Given the description of an element on the screen output the (x, y) to click on. 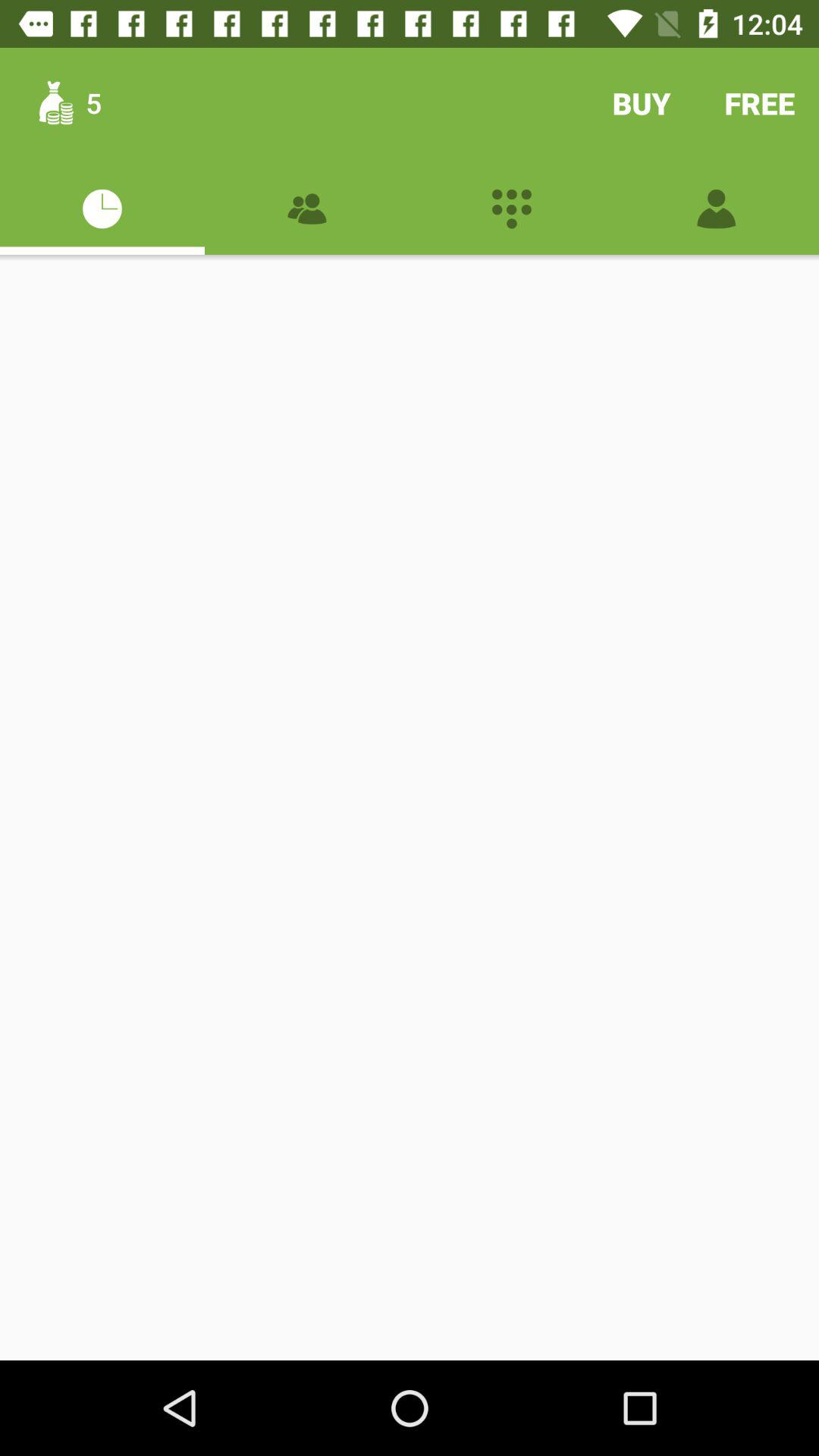
swipe to buy item (641, 103)
